Given the description of an element on the screen output the (x, y) to click on. 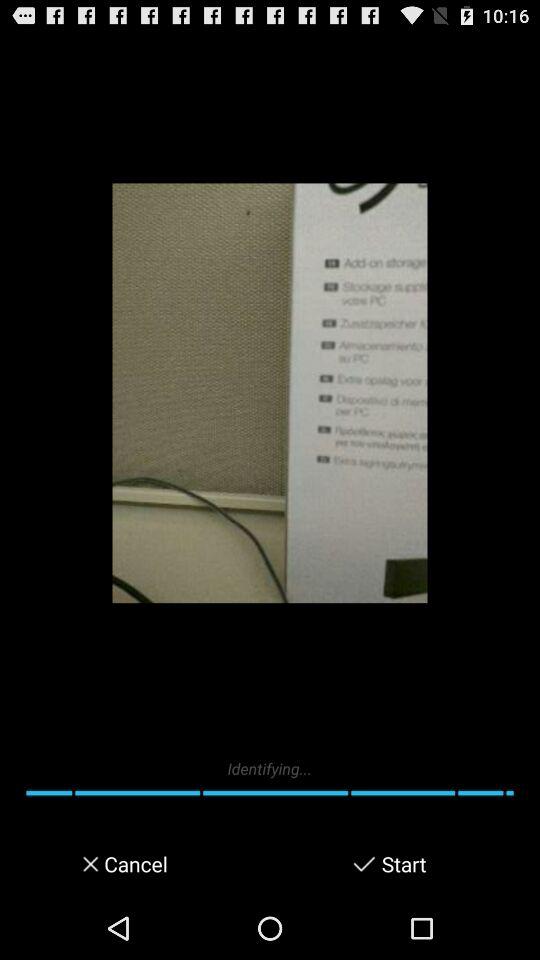
starts the app (363, 864)
